Given the description of an element on the screen output the (x, y) to click on. 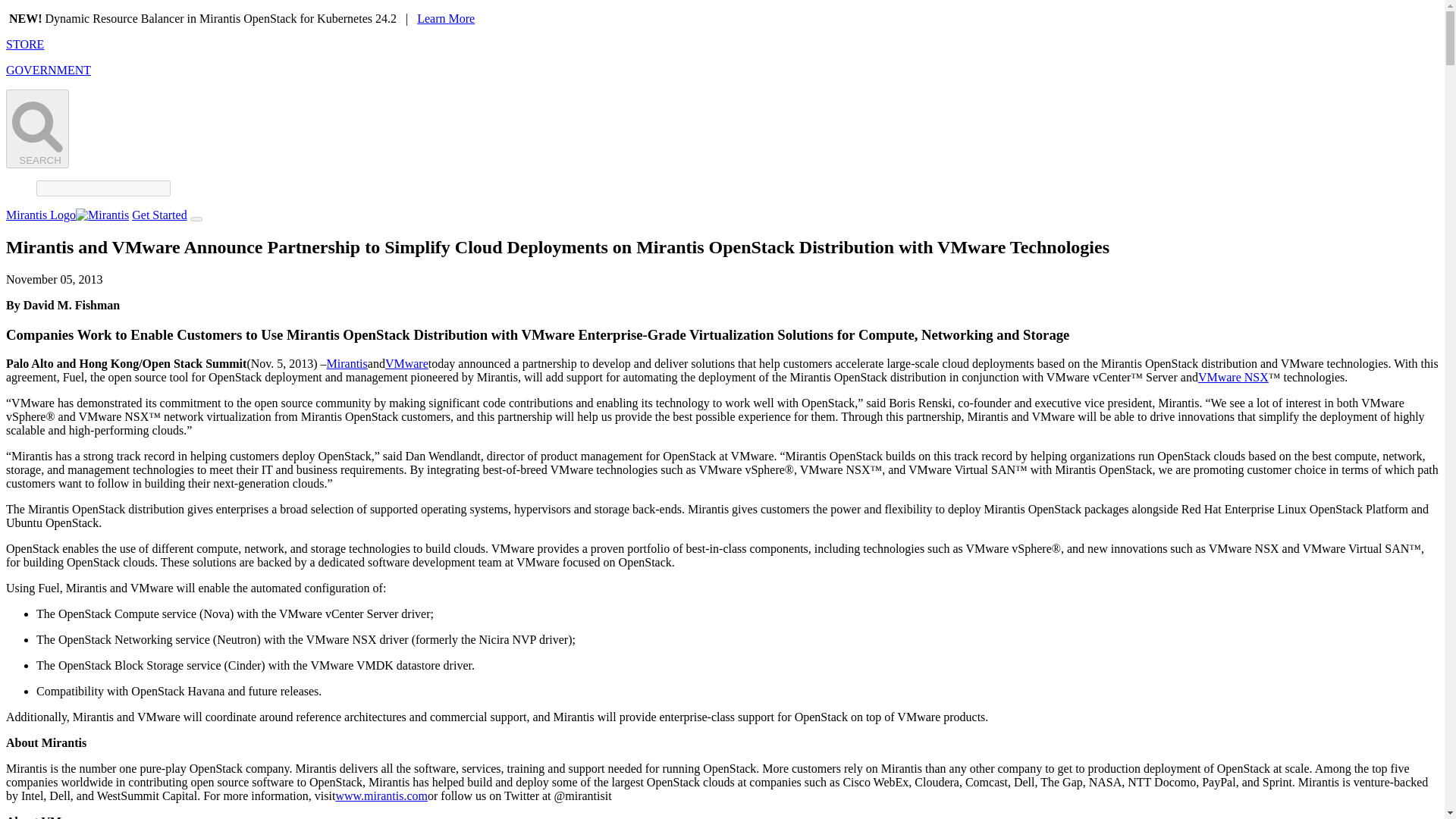
STORE (24, 43)
Mirantis Logo (67, 214)
Learn More (445, 18)
GOVERNMENT (47, 69)
